Given the description of an element on the screen output the (x, y) to click on. 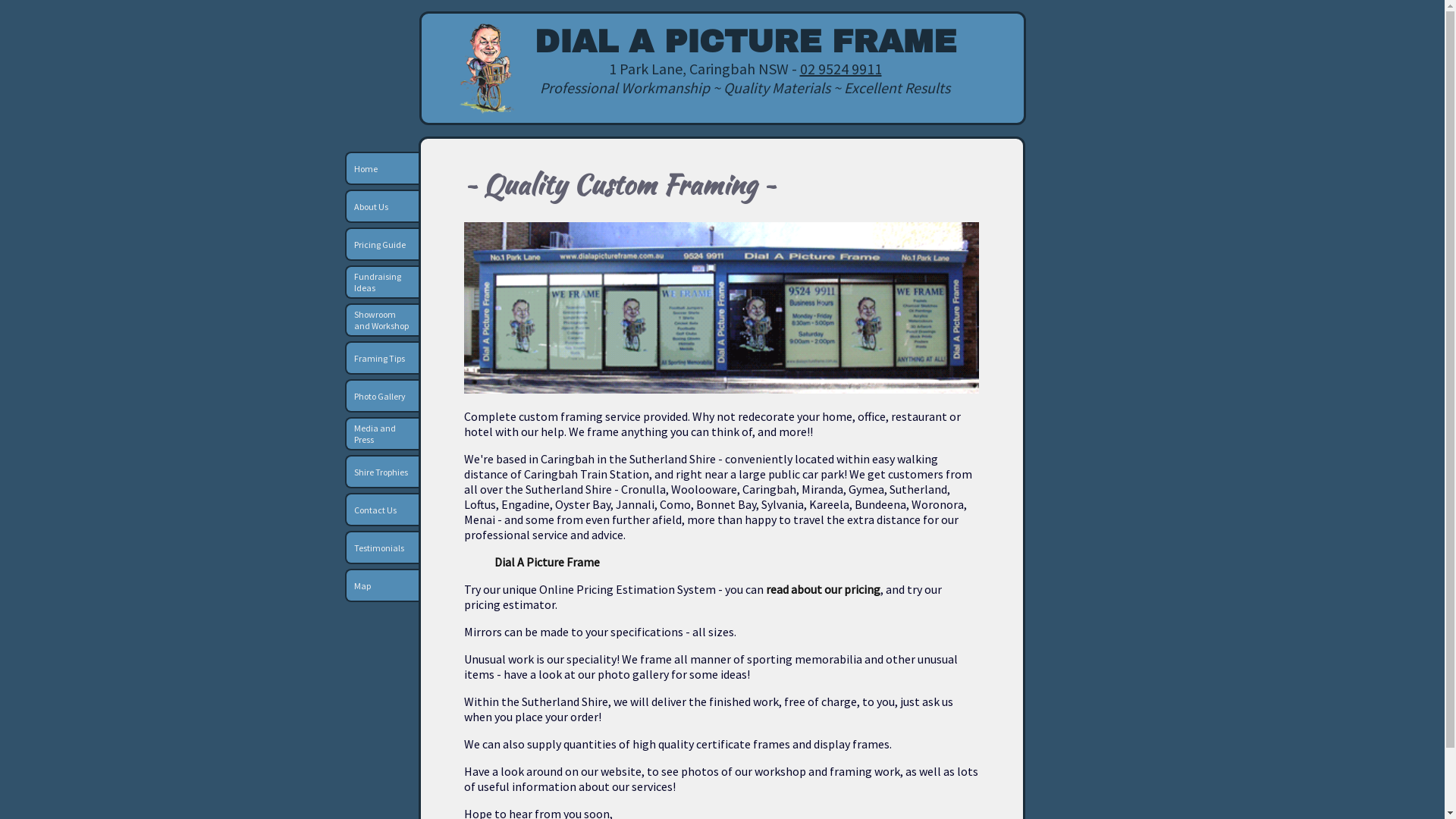
About Us Element type: text (381, 206)
Fundraising Ideas Element type: text (381, 281)
Home Element type: text (381, 168)
read about our pricing Element type: text (822, 588)
Dial A Picture Frame Element type: text (546, 561)
Map Element type: text (381, 585)
02 9524 9911 Element type: text (840, 68)
Framing Tips Element type: text (381, 357)
Testimonials Element type: text (381, 547)
Showroom and Workshop Element type: text (381, 319)
Pricing Guide Element type: text (381, 244)
Shire Trophies Element type: text (381, 471)
Media and Press Element type: text (381, 433)
Photo Gallery Element type: text (381, 395)
Contact Us Element type: text (381, 509)
